Given the description of an element on the screen output the (x, y) to click on. 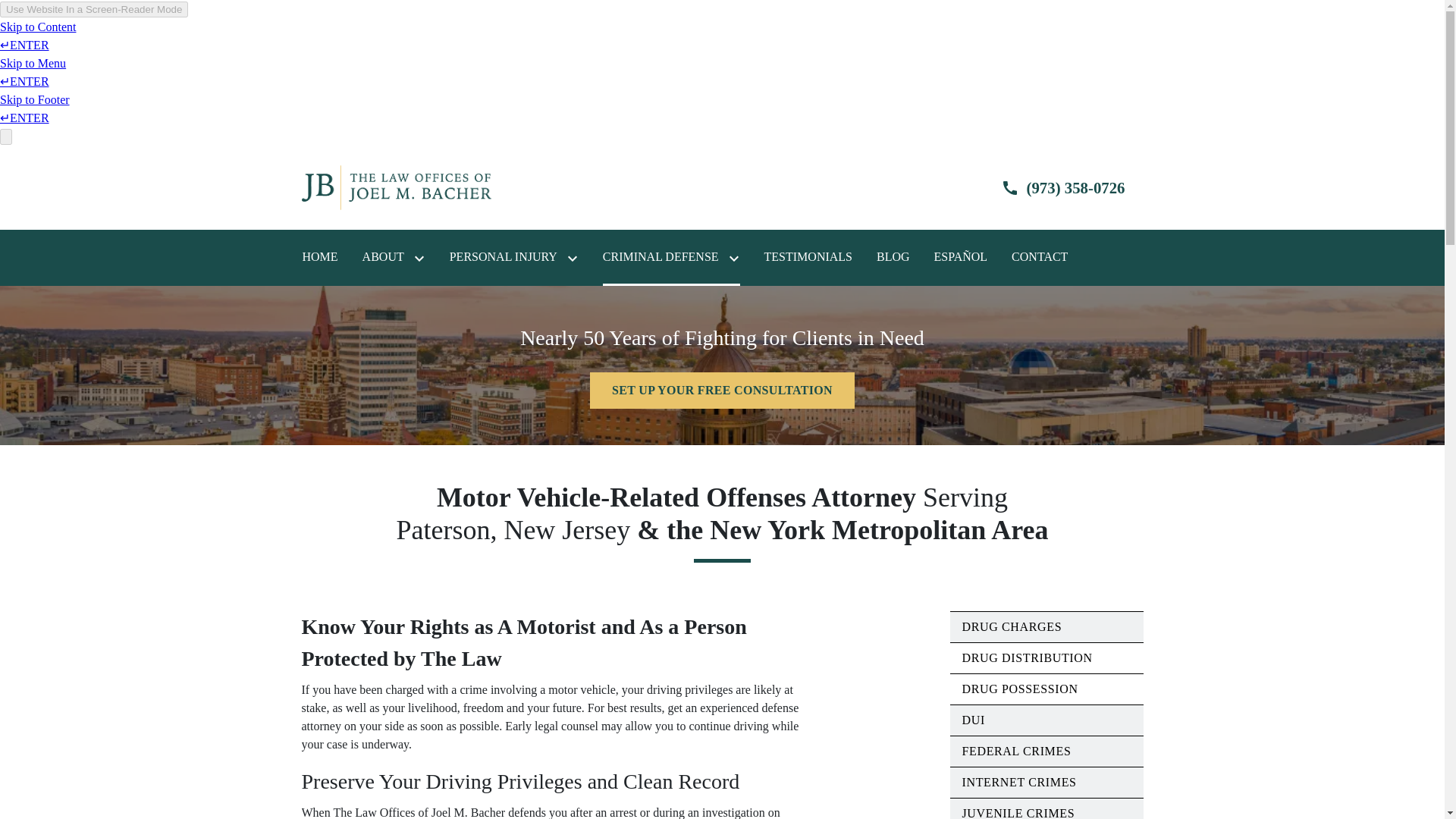
CRIMINAL DEFENSE (660, 257)
PERSONAL INJURY (503, 257)
ABOUT (383, 257)
HOME (319, 257)
